Given the description of an element on the screen output the (x, y) to click on. 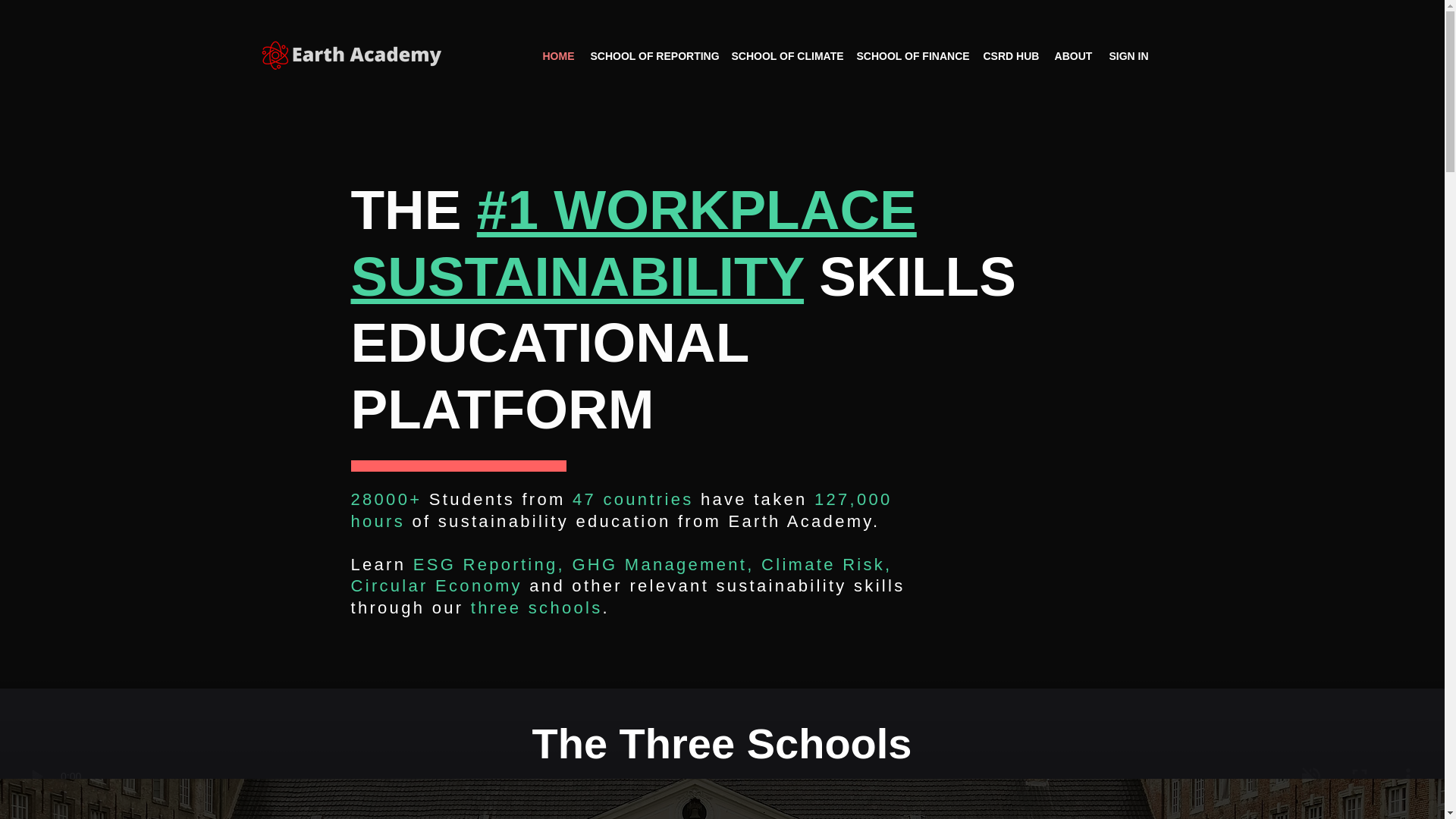
SIGN IN (1128, 56)
SCHOOL OF REPORTING (652, 56)
SCHOOL OF CLIMATE (785, 56)
ABOUT (1073, 56)
SCHOOL OF FINANCE (910, 56)
HOME (557, 56)
CSRD HUB (1010, 56)
